Given the description of an element on the screen output the (x, y) to click on. 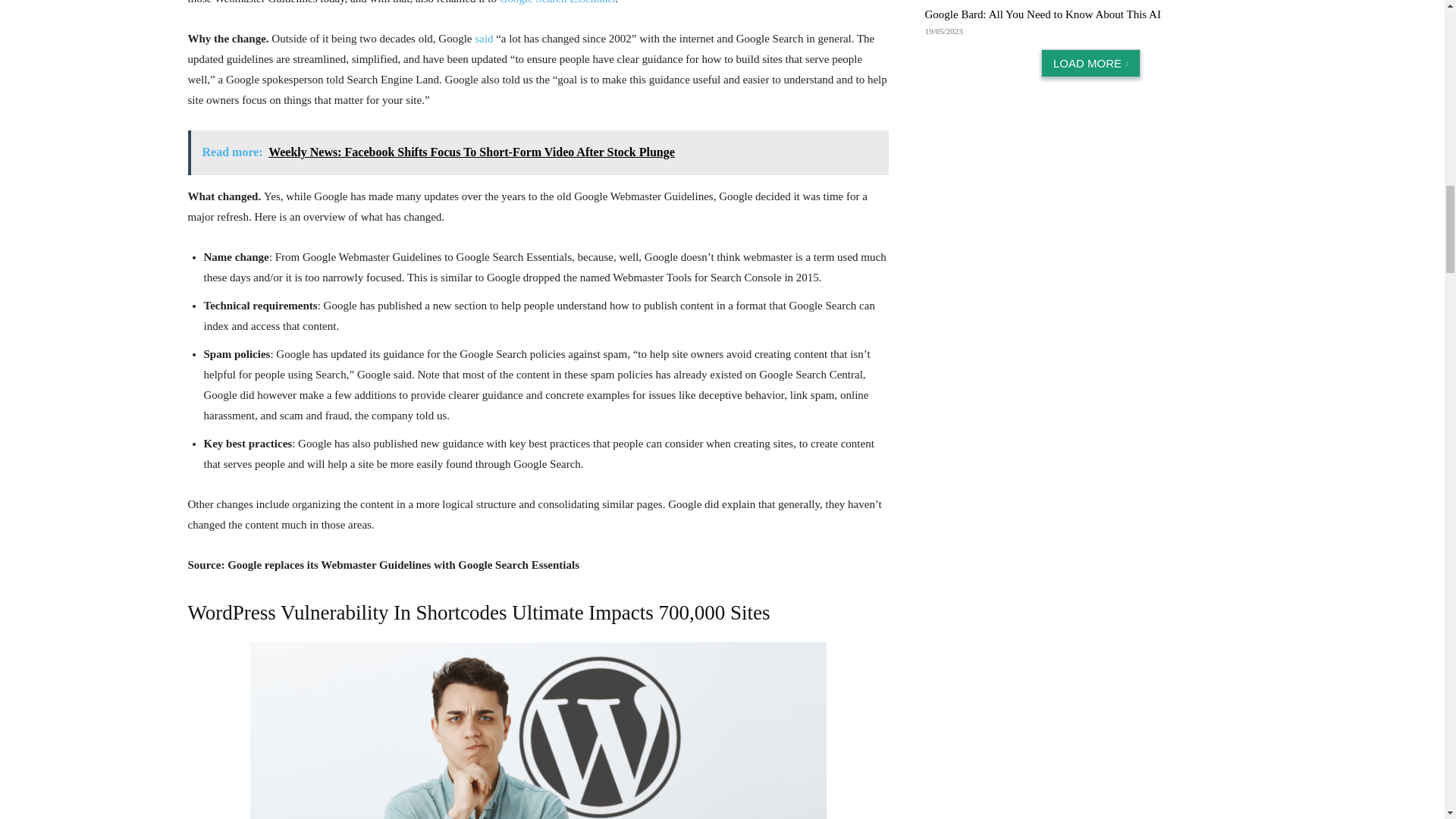
Weekly News: TikTok Planning On Opening Warehouses In U.S. 2 (538, 730)
